Given the description of an element on the screen output the (x, y) to click on. 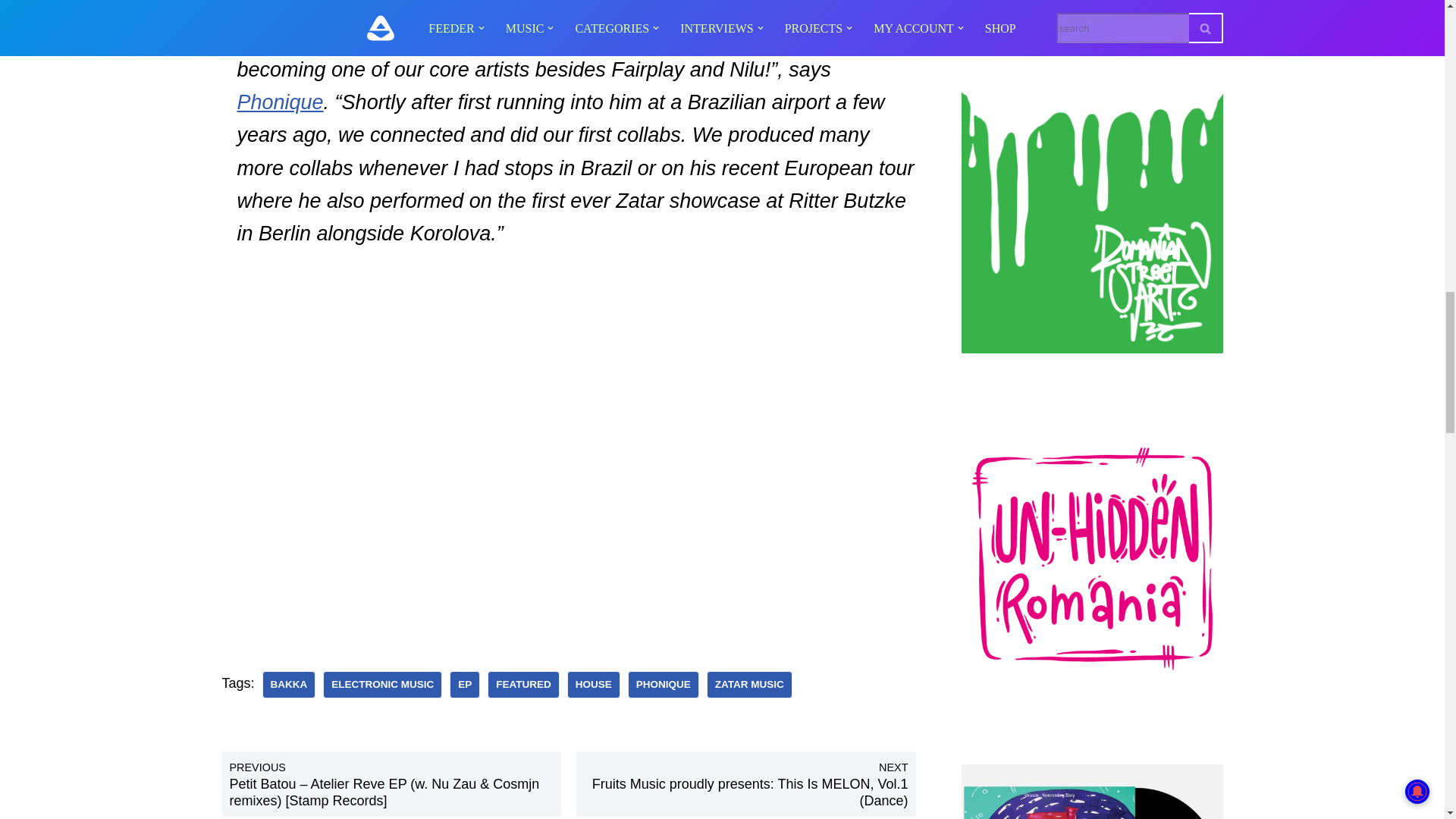
electronic music (382, 684)
ep (464, 684)
featured (523, 684)
house (593, 684)
Zatar Music (749, 684)
bakka (288, 684)
Phonique (662, 684)
